Given the description of an element on the screen output the (x, y) to click on. 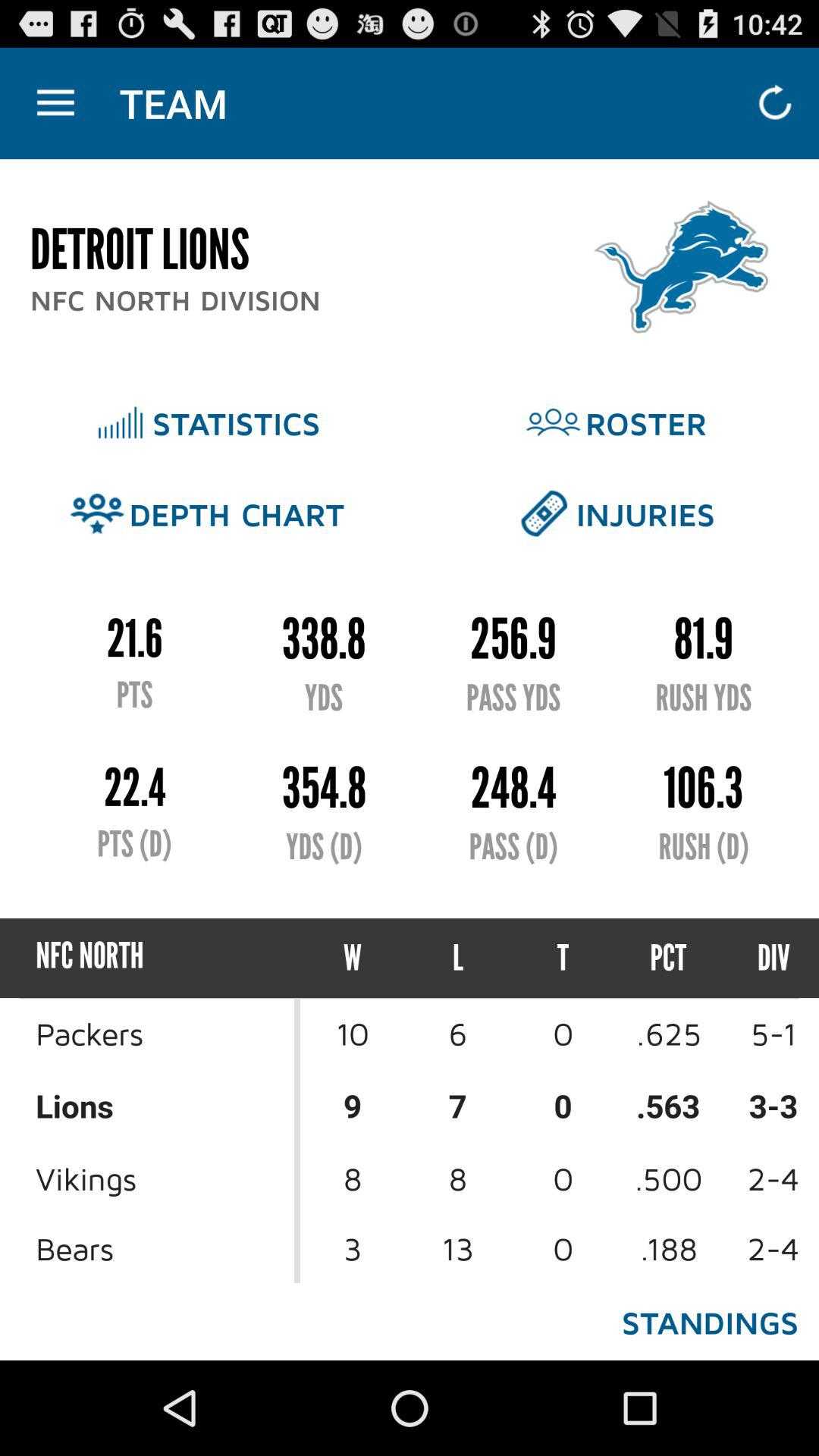
open icon next to t item (668, 958)
